Given the description of an element on the screen output the (x, y) to click on. 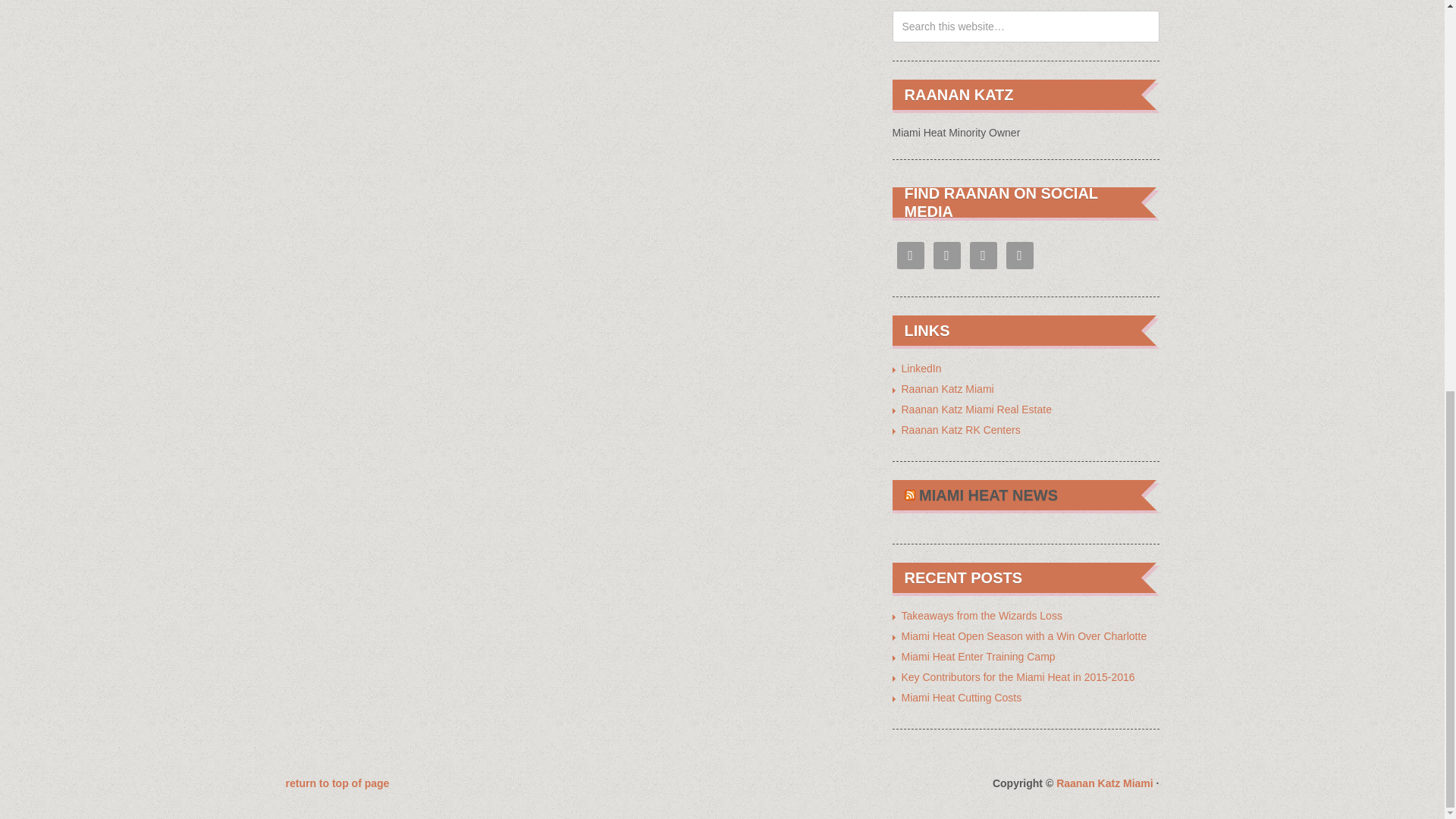
Key Contributors for the Miami Heat in 2015-2016 (1017, 676)
Takeaways from the Wizards Loss (981, 615)
Miami Heat Open Season with a Win Over Charlotte (1024, 635)
Raanan Katz Miami Real Estate (976, 409)
Raanan Katz on Real Estate in Miami (976, 409)
Raanan Katz LinkedIn (920, 368)
Raanan Katz Miami (1105, 783)
Miami Heat Cutting Costs (961, 697)
LinkedIn (920, 368)
Raanan Katz Miami (946, 388)
Raanan Katz on Miami (946, 388)
MIAMI HEAT NEWS (988, 494)
Raanan Katz Miami (1105, 783)
